Given the description of an element on the screen output the (x, y) to click on. 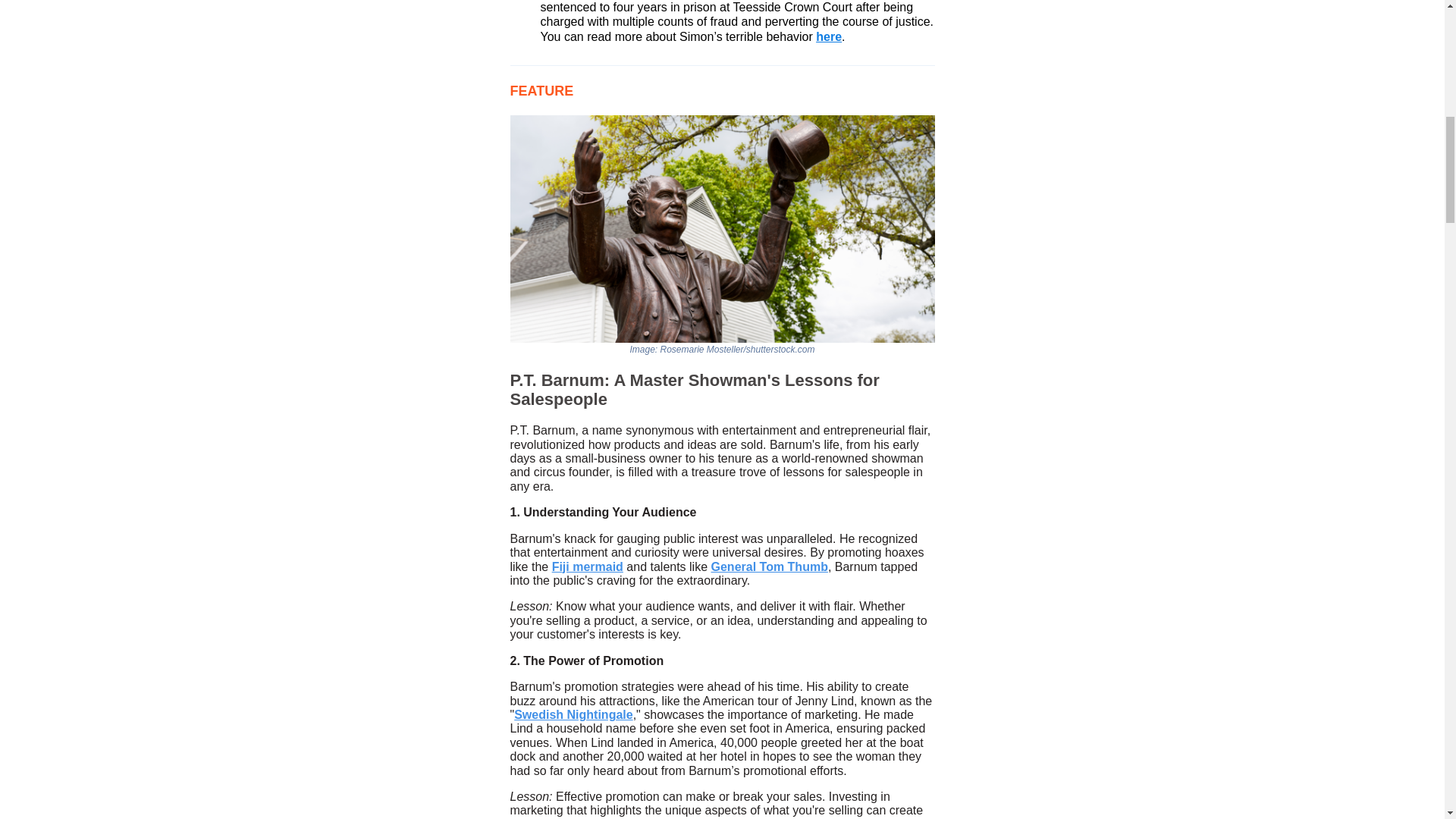
here (828, 36)
Fiji mermaid (587, 567)
General Tom Thumb (769, 567)
Swedish Nightingale (572, 715)
